Given the description of an element on the screen output the (x, y) to click on. 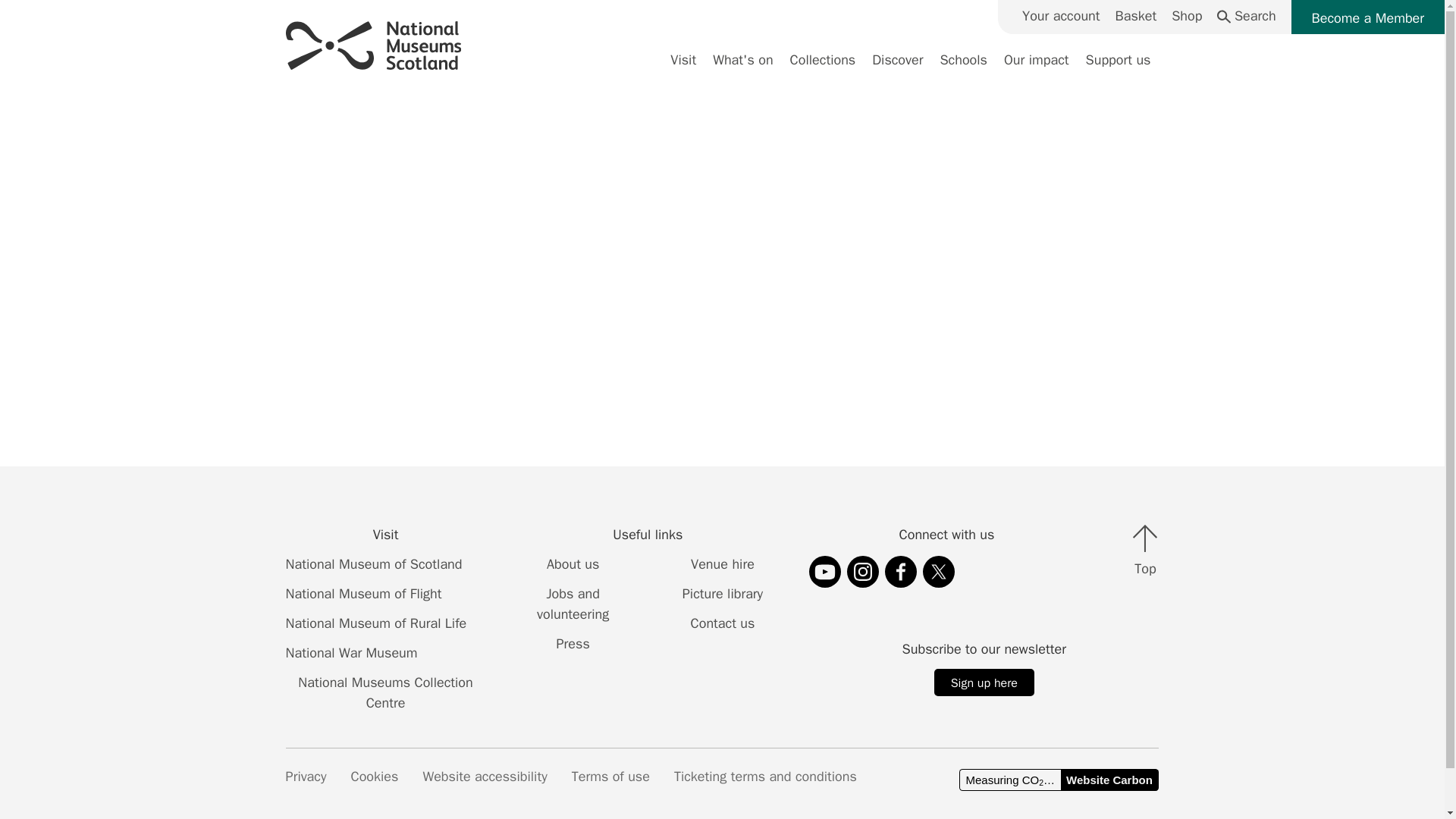
Support us (1117, 69)
Shop (1187, 15)
What's on (742, 69)
Search (1246, 15)
Discover (897, 69)
Become a Member (1367, 17)
Our impact (1036, 69)
Schools (963, 69)
Collections (822, 69)
About us (572, 564)
